Given the description of an element on the screen output the (x, y) to click on. 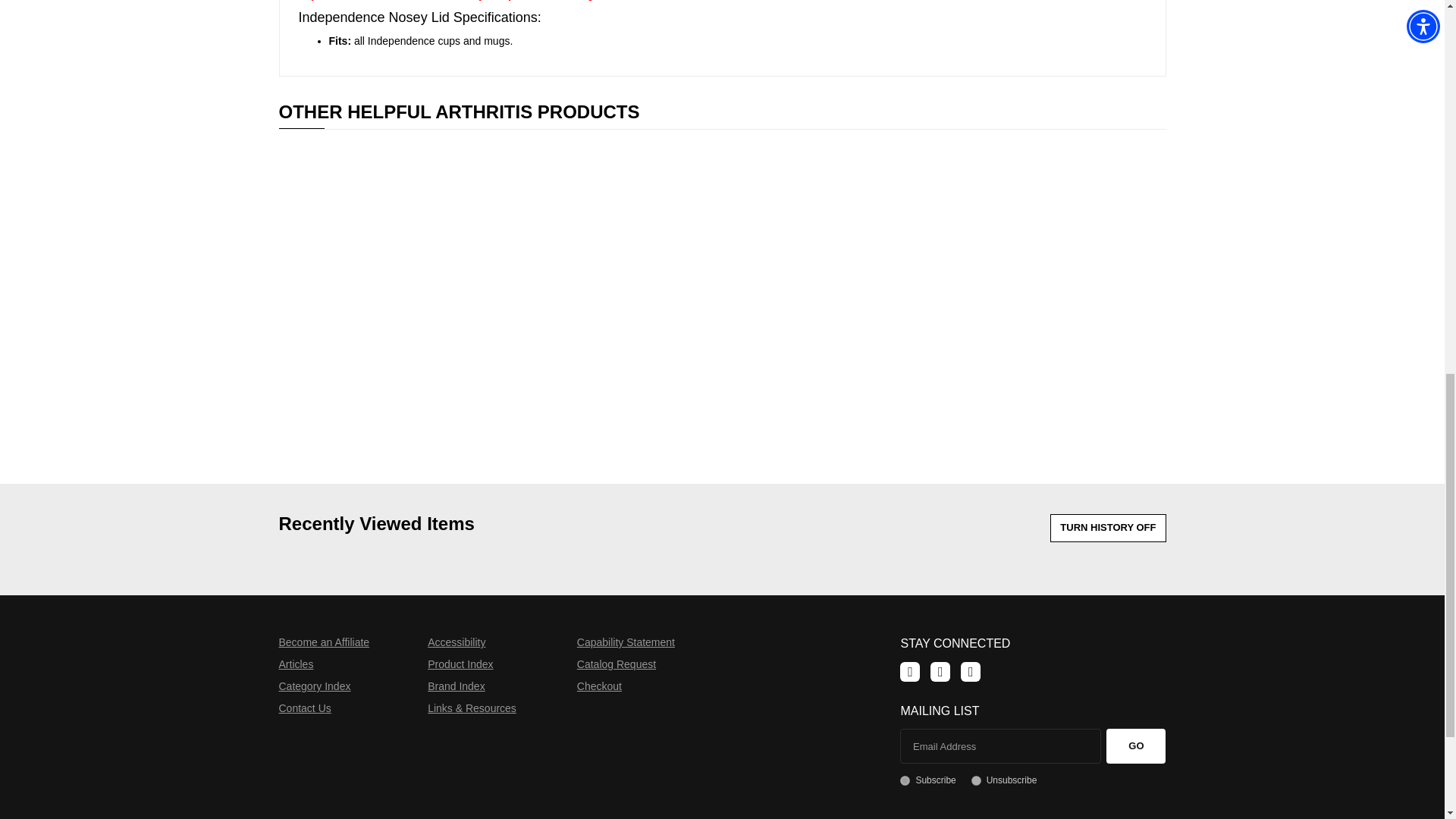
1 (904, 780)
0 (976, 780)
